Given the description of an element on the screen output the (x, y) to click on. 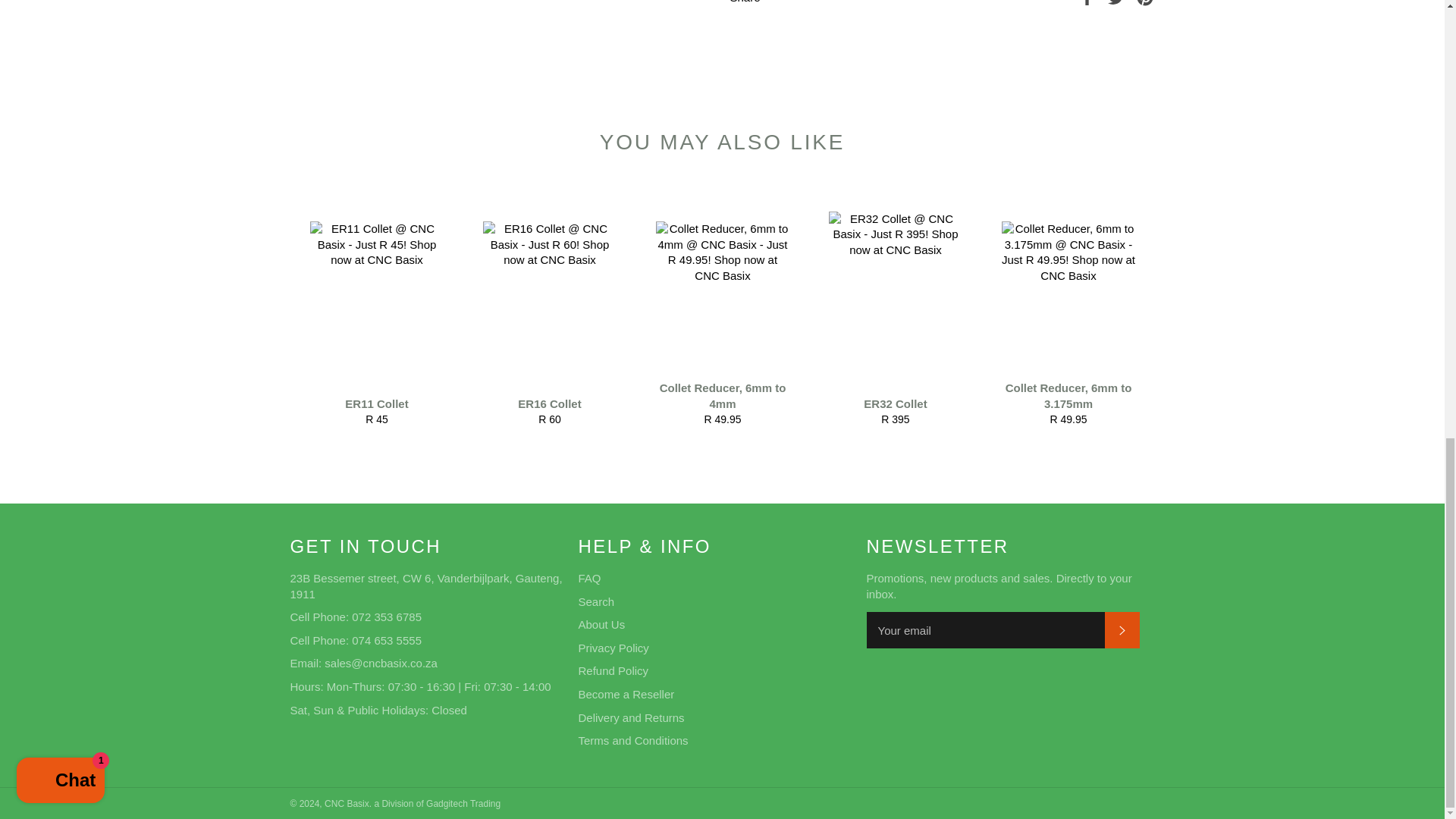
Pin on Pinterest (1144, 1)
Share on Facebook (1088, 1)
tel:0746535555 (387, 640)
Tweet on Twitter (1117, 1)
Refund Policy (376, 311)
FAQ (894, 311)
Search (612, 670)
Delivery and Returns (588, 577)
072 353 6785 (1067, 311)
Share on Facebook (721, 311)
